Given the description of an element on the screen output the (x, y) to click on. 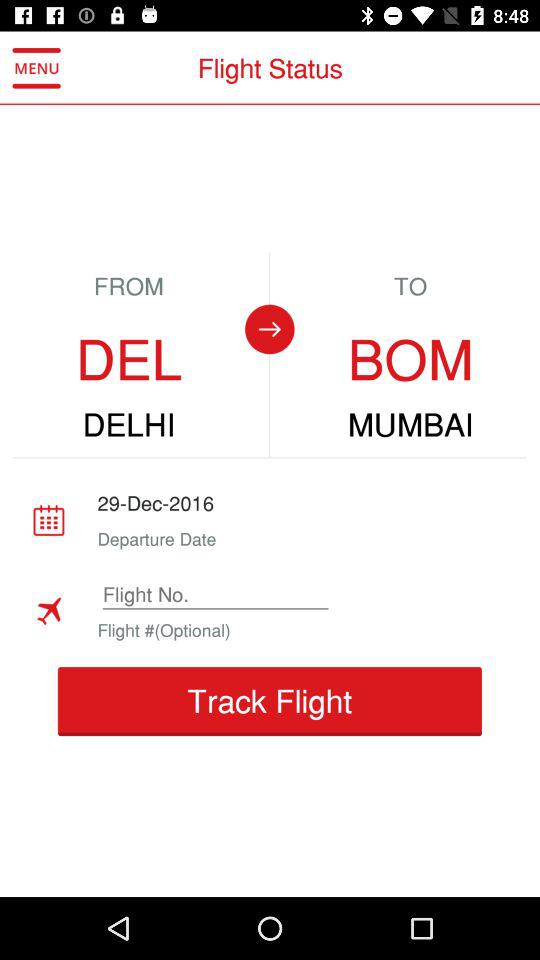
scroll to the del item (128, 359)
